Given the description of an element on the screen output the (x, y) to click on. 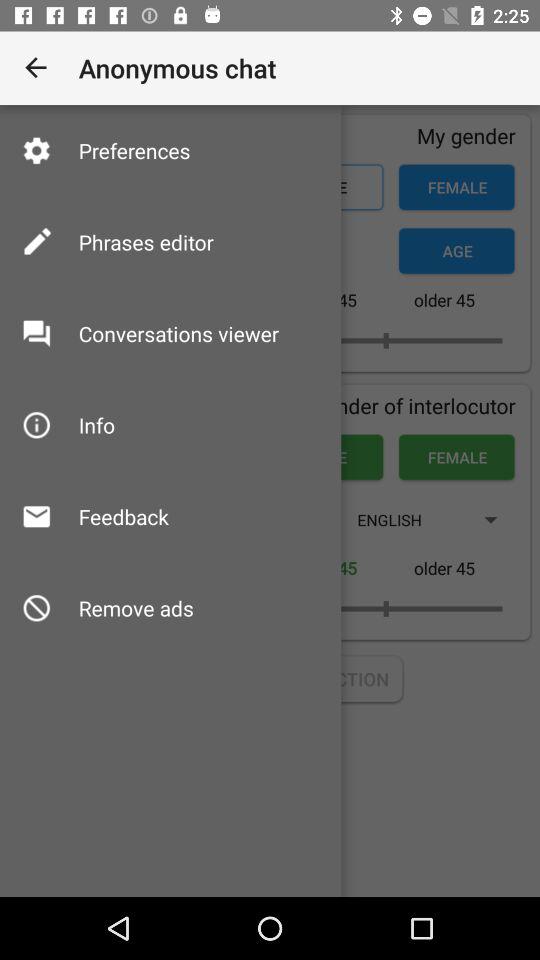
launch preferences icon (134, 150)
